Given the description of an element on the screen output the (x, y) to click on. 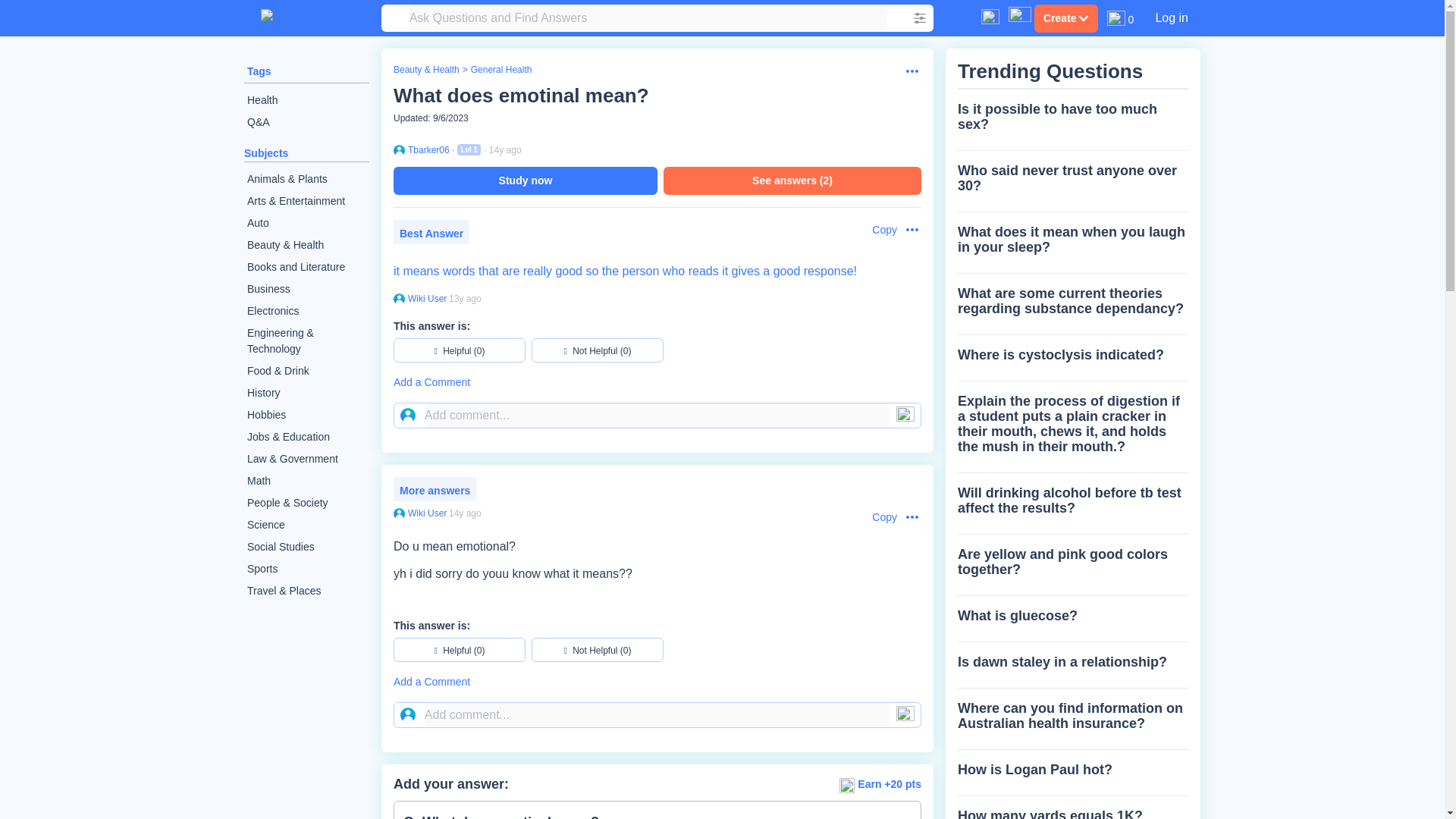
Auto (306, 223)
Hobbies (306, 414)
Business (306, 289)
Tags (258, 70)
Health (306, 100)
Copy (876, 229)
Social Studies (306, 546)
Books and Literature (306, 267)
What does emotinal mean? (521, 95)
Subjects (266, 152)
